Given the description of an element on the screen output the (x, y) to click on. 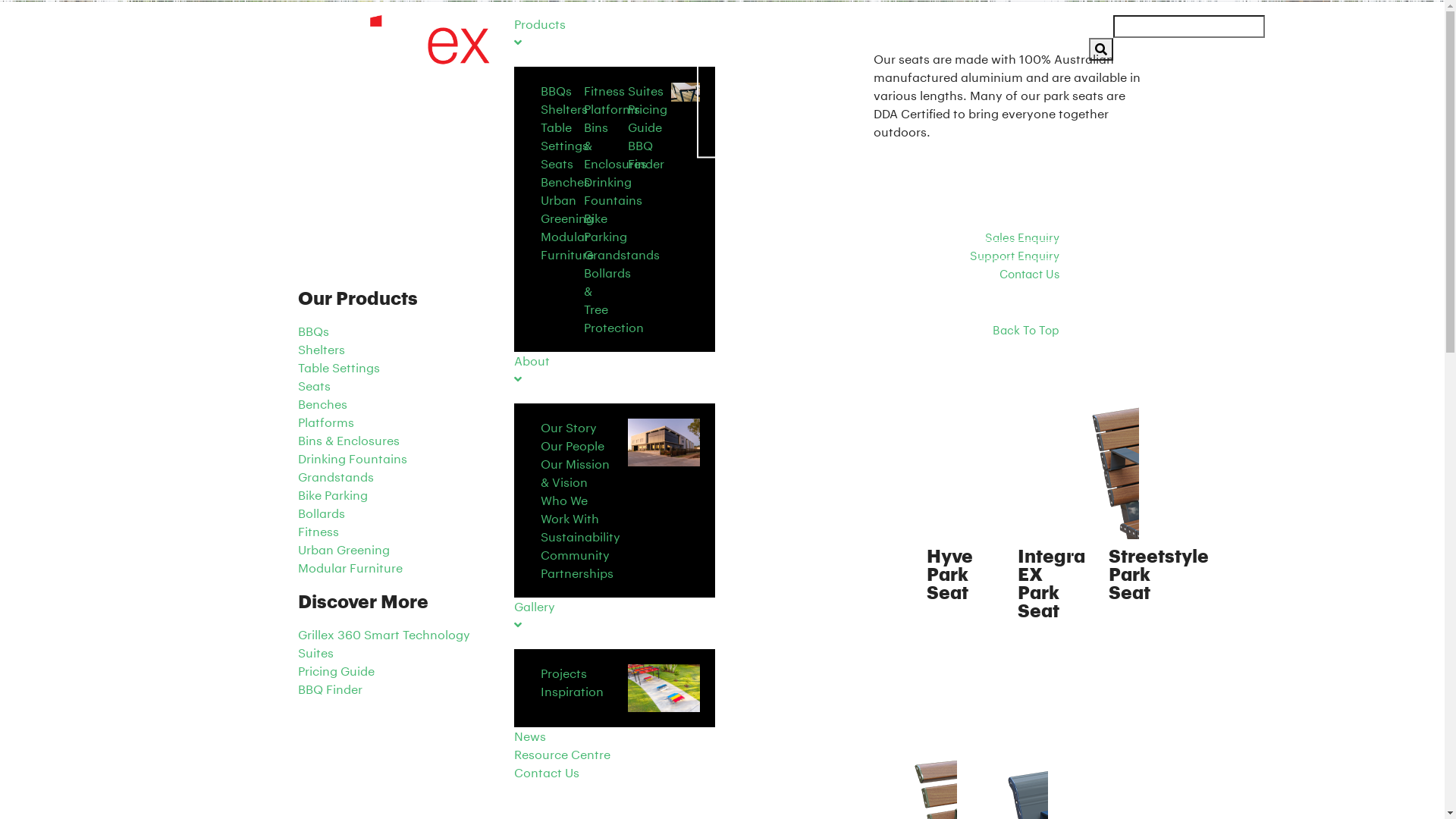
Hyve Park Seat Element type: text (949, 573)
Community Partnerships Element type: text (575, 563)
Table Settings Element type: text (563, 135)
Gallery Element type: text (614, 615)
Shelters Element type: text (562, 108)
Grandstands Element type: text (621, 254)
Suites Element type: text (645, 90)
Urban Greening Element type: text (343, 549)
Bins & Enclosures Element type: text (347, 440)
Seats Element type: text (555, 163)
Platforms Element type: text (611, 108)
Fitness Element type: text (317, 531)
Bollards & Tree Protection Element type: text (613, 299)
Drinking Fountains Element type: text (612, 190)
Our Story Element type: text (567, 427)
Urban Greening Element type: text (566, 208)
Back To Top Element type: text (1025, 329)
Products Element type: text (614, 33)
Modular Furniture Element type: text (566, 245)
Bike Parking Element type: text (332, 494)
BBQ Finder Element type: text (645, 154)
Modular Furniture Element type: text (349, 567)
News Element type: text (614, 736)
Inspiration Element type: text (570, 691)
Contact Us Element type: text (614, 772)
Platforms Element type: text (325, 421)
Sustainability Element type: text (579, 536)
Sales Enquiry Element type: text (1021, 237)
Integra EX Park Seat Element type: text (1051, 582)
Suites Element type: text (314, 652)
Benches Element type: text (321, 403)
Projects Element type: text (562, 672)
Pricing Guide Element type: text (335, 670)
Drinking Fountains Element type: text (351, 458)
Contact Us Element type: text (1028, 273)
Benches Element type: text (564, 181)
Table Settings Element type: text (338, 367)
Grillex 360 Smart Technology Element type: text (383, 634)
Who We Work With Element type: text (568, 508)
BBQs Element type: text (555, 90)
Our Mission & Vision Element type: text (573, 472)
BBQs Element type: text (312, 330)
Bike Parking Element type: text (605, 226)
Bollards Element type: text (320, 512)
About Element type: text (614, 369)
Seats Element type: text (313, 385)
Fitness Element type: text (603, 90)
Resource Centre Element type: text (614, 754)
Streetstyle Park Seat Element type: text (1158, 573)
BBQ Finder Element type: text (329, 688)
Support Enquiry Element type: text (1014, 255)
Shelters Element type: text (320, 349)
Our People Element type: text (571, 445)
Grandstands Element type: text (335, 476)
Pricing Guide Element type: text (647, 117)
Bins & Enclosures Element type: text (614, 144)
